Given the description of an element on the screen output the (x, y) to click on. 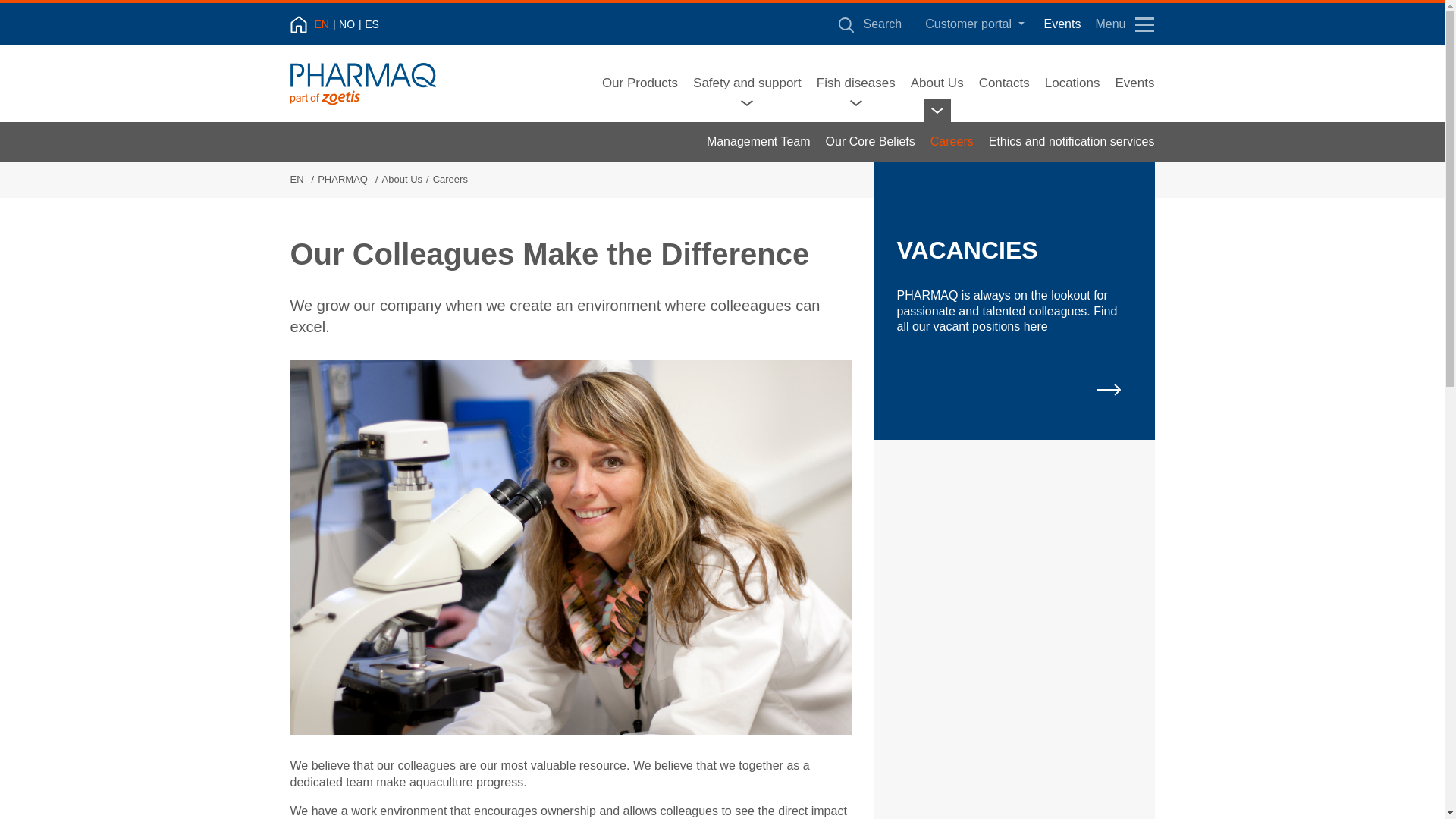
Events (1134, 83)
About Us (937, 83)
Events (1061, 23)
Safety and support (747, 83)
Customer portal (974, 23)
ES (371, 24)
EN (324, 24)
Management Team (758, 141)
Fish diseases (855, 83)
NO (350, 24)
Our Products (640, 83)
Contacts (1003, 83)
Locations (1072, 83)
Our Core Beliefs (870, 141)
Careers (952, 141)
